Given the description of an element on the screen output the (x, y) to click on. 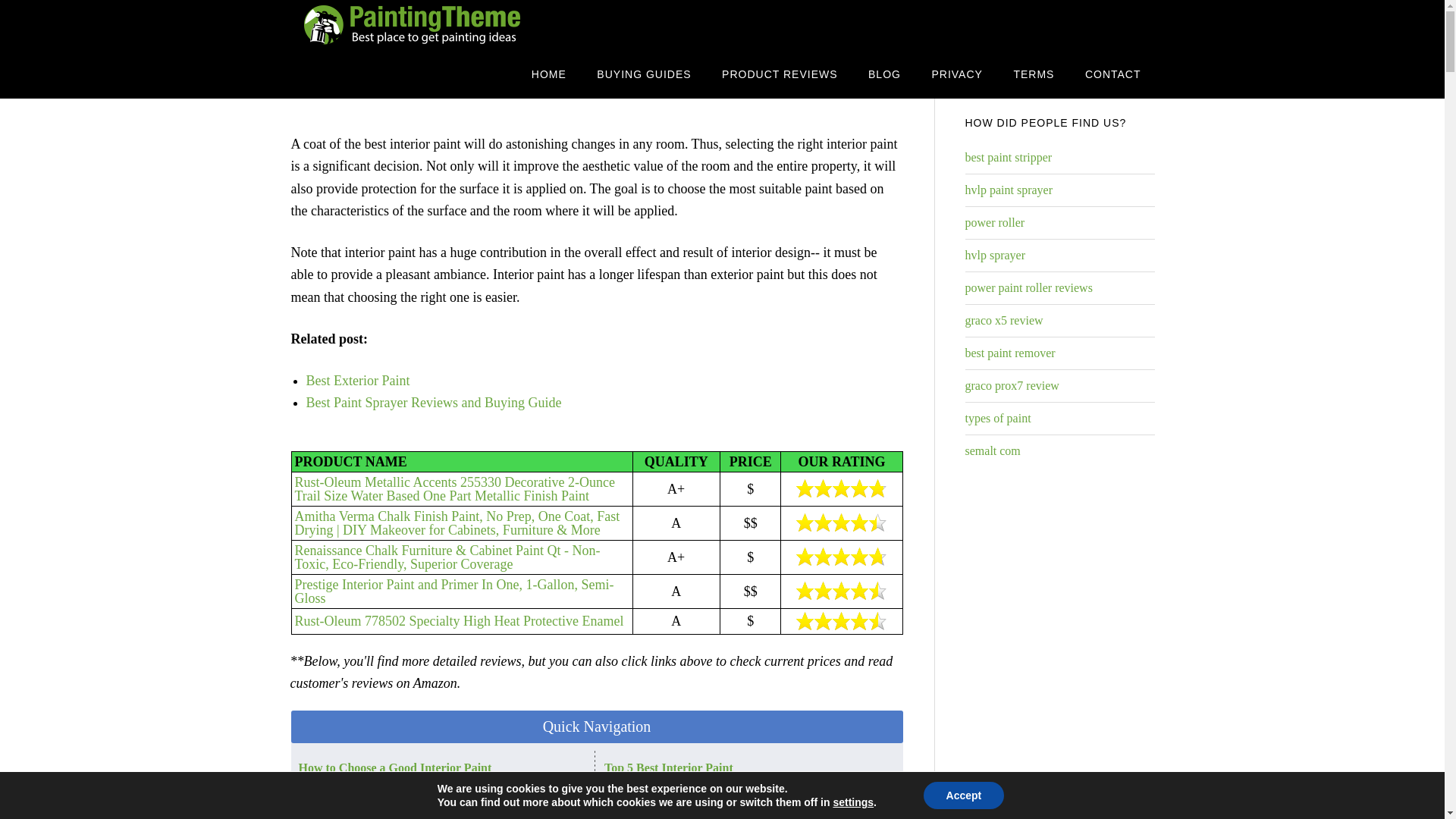
BUYING GUIDES (643, 73)
CONTACT (1112, 73)
Privacy Policy (956, 73)
Terms and Conditions (1032, 73)
Rust-Oleum 778502 Specialty High Heat Protective Enamel (458, 620)
PRODUCT REVIEWS (778, 73)
PAINTINGTHEME.COM (410, 24)
Top 5 Best Interior Paint (668, 767)
PRIVACY (956, 73)
Contact Us (1112, 73)
Best Exterior Paint (357, 380)
TERMS (1032, 73)
BLOG (884, 73)
What is the Right Paint Finish? (380, 794)
